Given the description of an element on the screen output the (x, y) to click on. 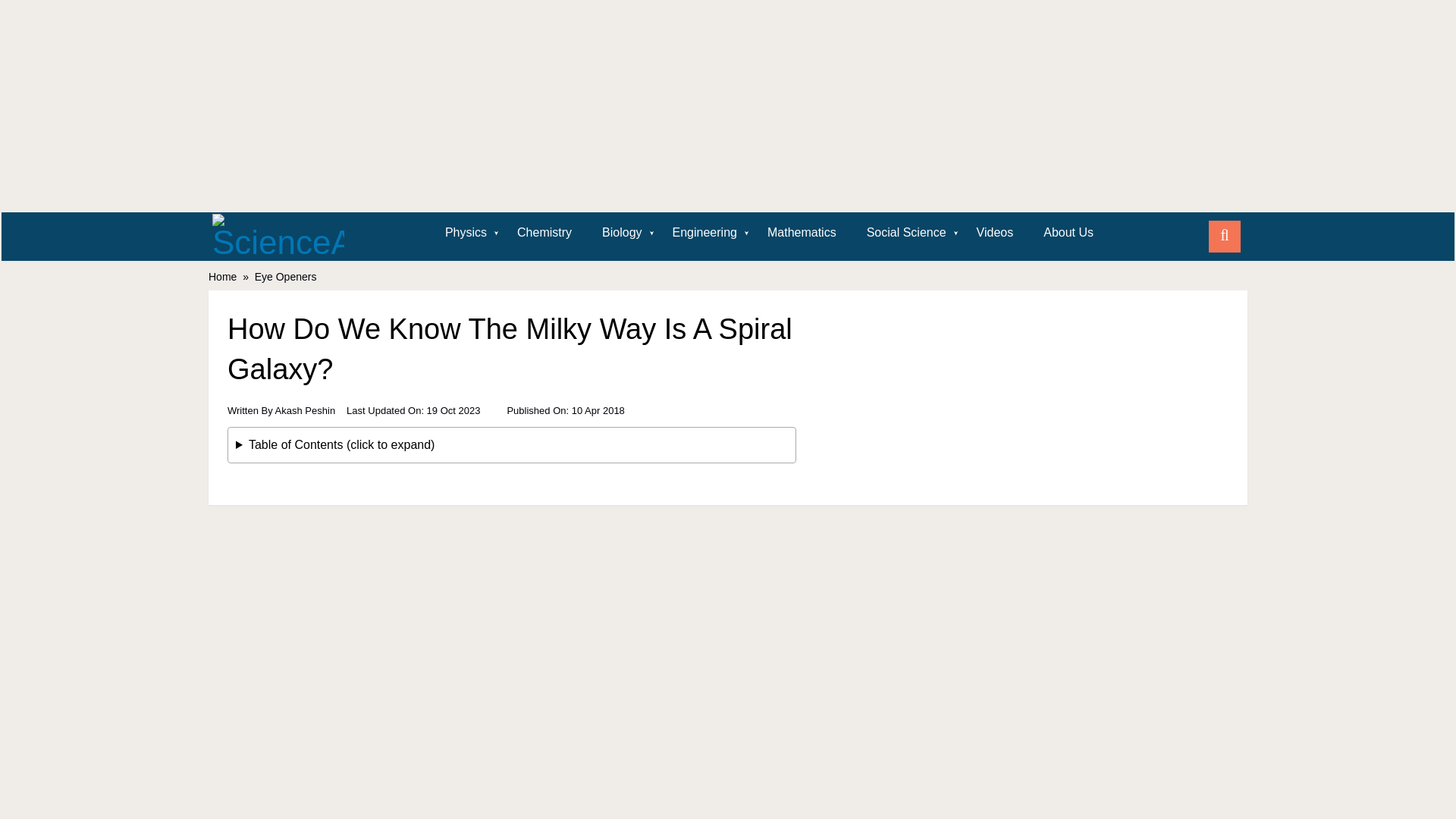
Videos (994, 232)
Mathematics (801, 232)
Physics (465, 232)
Biology (621, 232)
About Us (1067, 232)
Engineering (705, 232)
Social Science (905, 232)
Chemistry (544, 232)
How Do We Know The Milky Way Is A Spiral Galaxy? (511, 393)
